Given the description of an element on the screen output the (x, y) to click on. 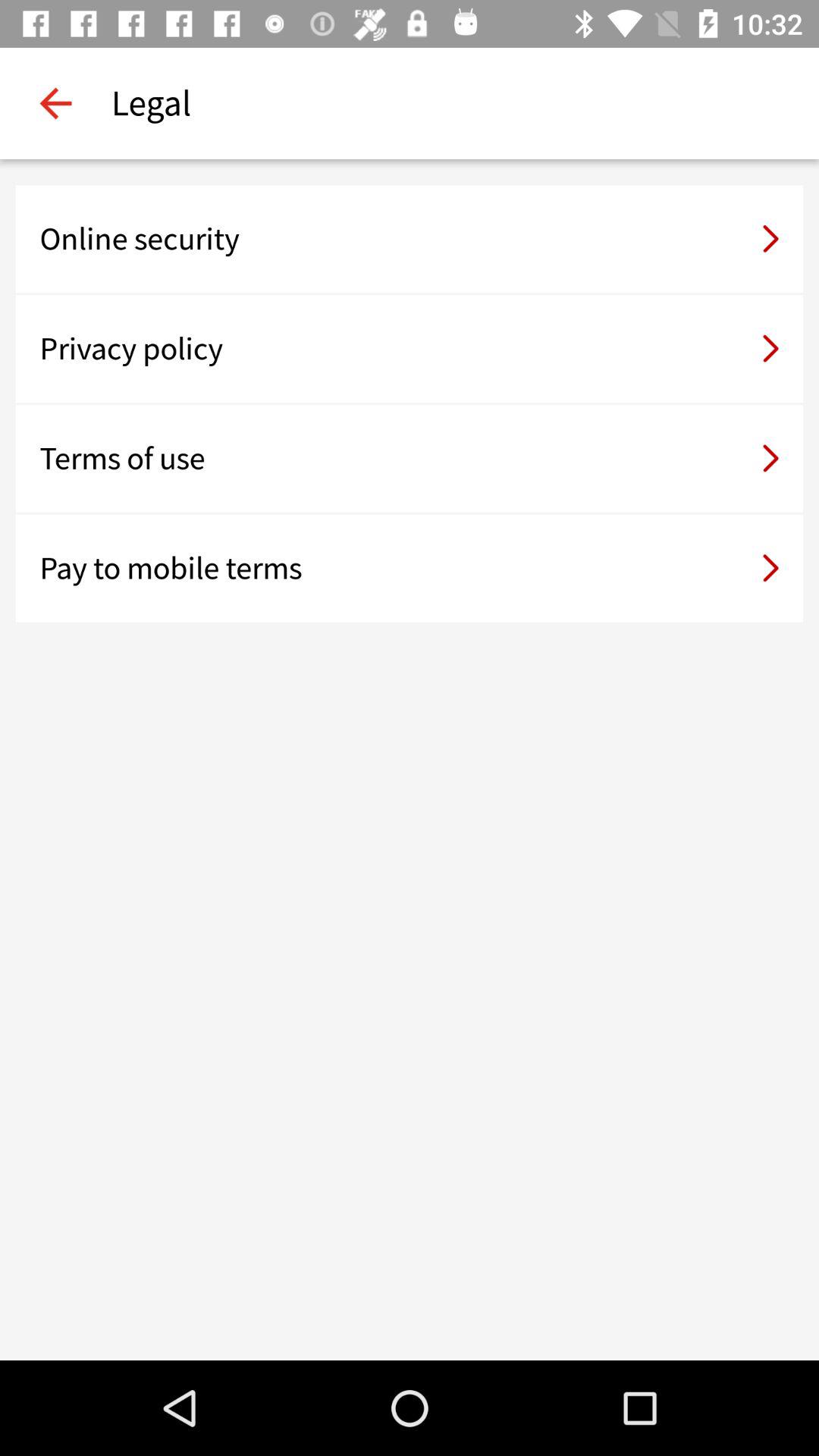
flip until the pay to mobile icon (409, 568)
